Given the description of an element on the screen output the (x, y) to click on. 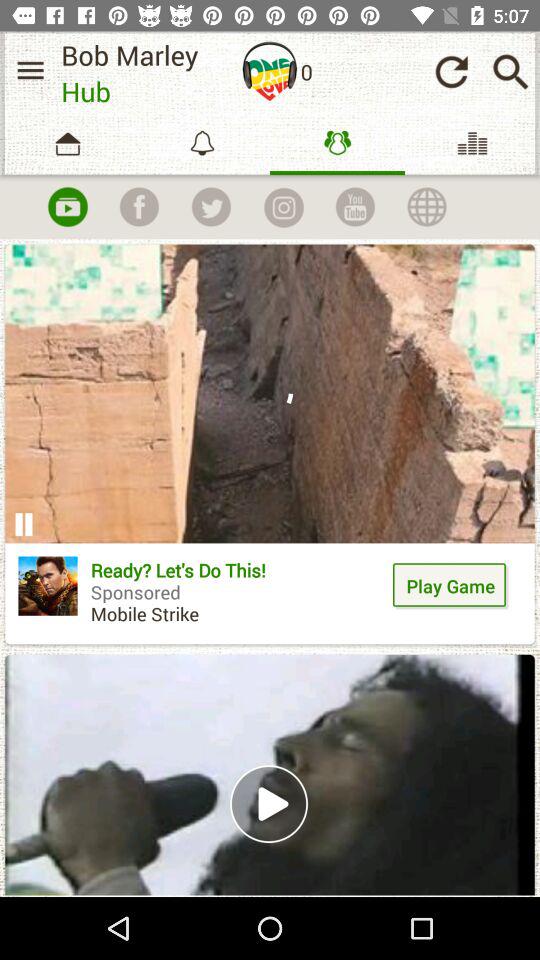
turn off the icon to the right of the ready let s icon (450, 586)
